Given the description of an element on the screen output the (x, y) to click on. 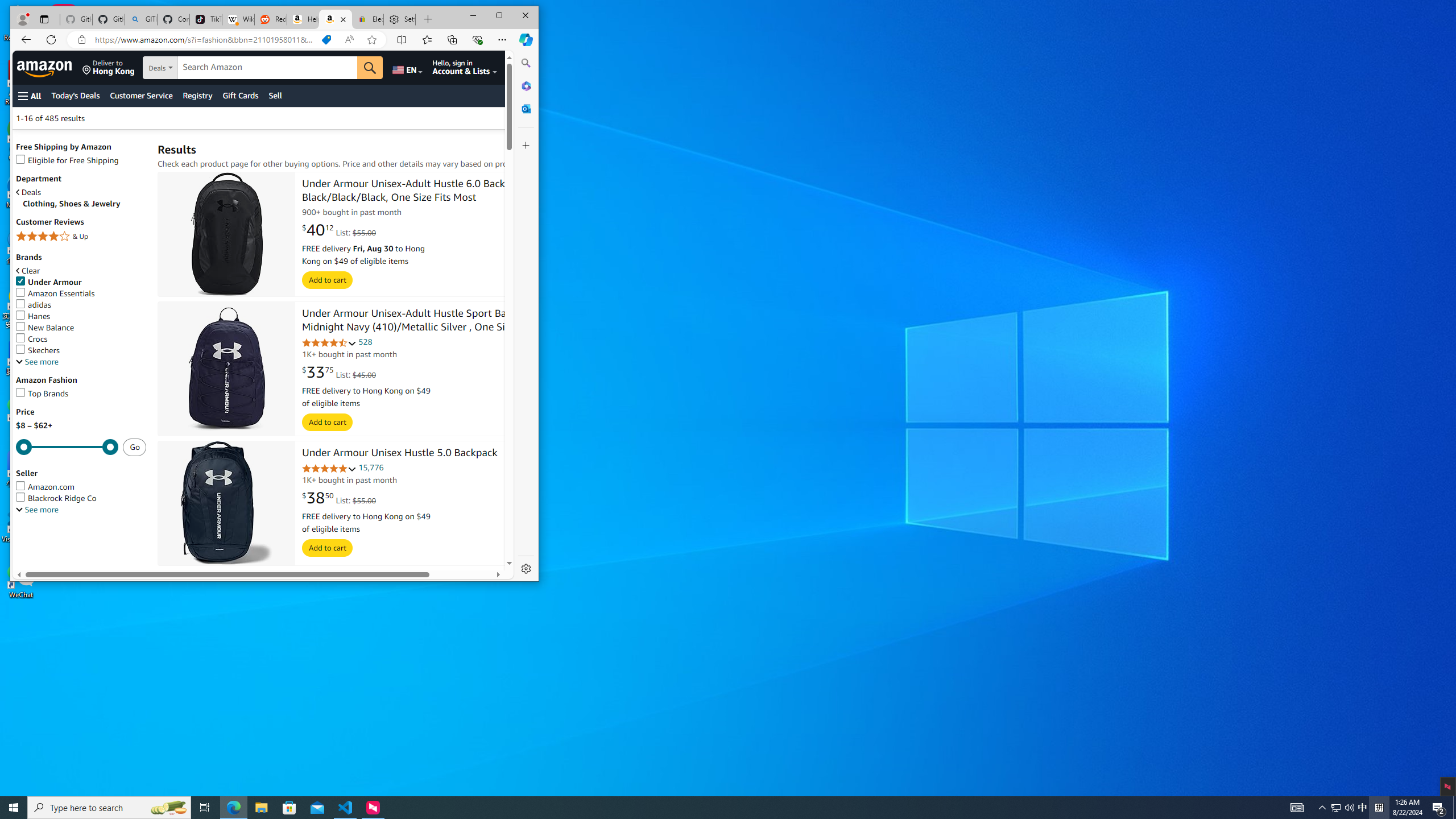
Minimum (67, 446)
User Promoted Notification Area (1342, 807)
Skechers (37, 350)
Under Armour Unisex Hustle 5.0 Backpack (399, 453)
Customer Service (140, 95)
Under Armour Unisex Hustle 5.0 Backpack (226, 503)
Go (369, 67)
